Given the description of an element on the screen output the (x, y) to click on. 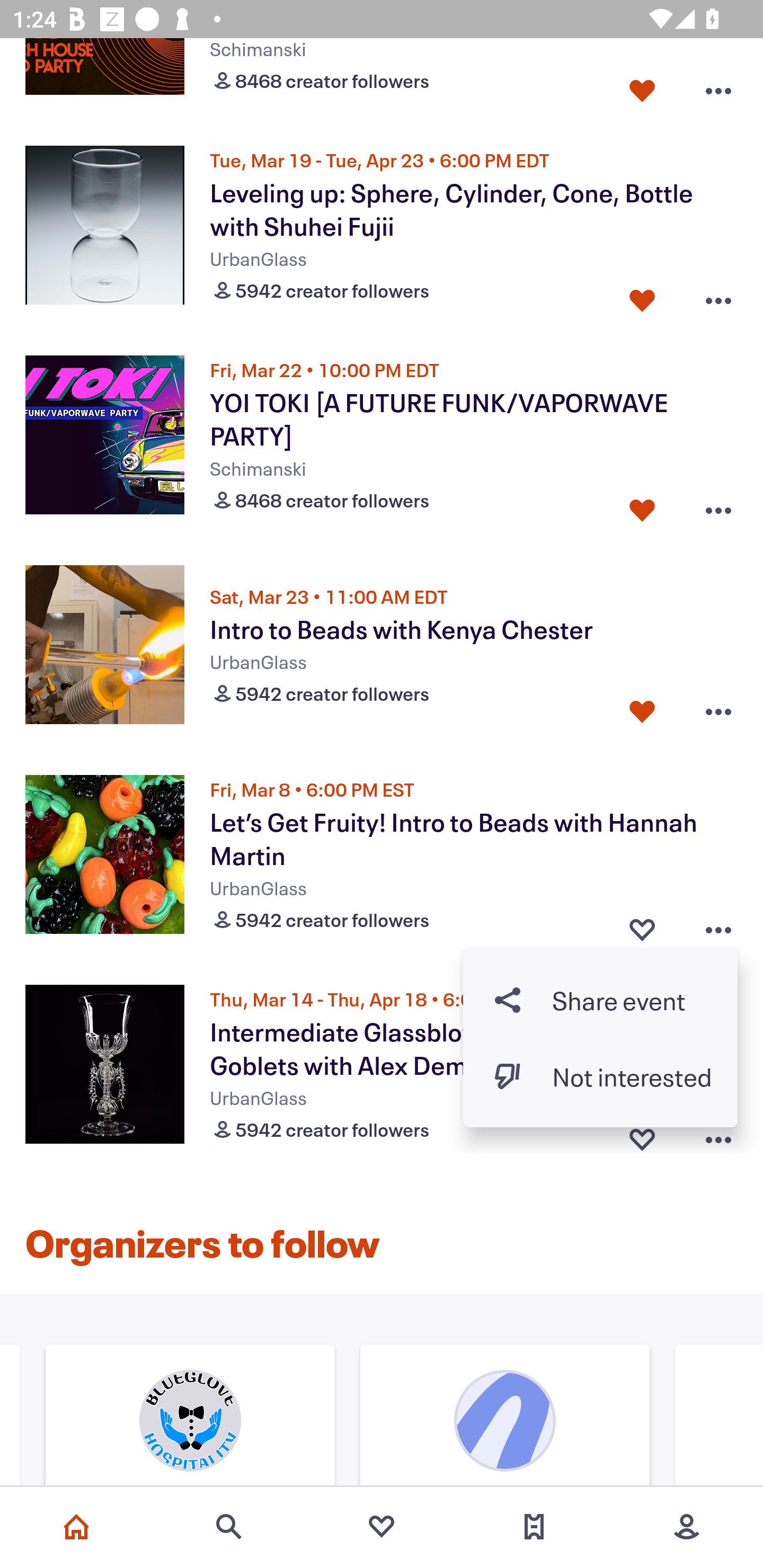
Share button Share event (600, 1000)
Dislike event button Not interested (600, 1076)
